Given the description of an element on the screen output the (x, y) to click on. 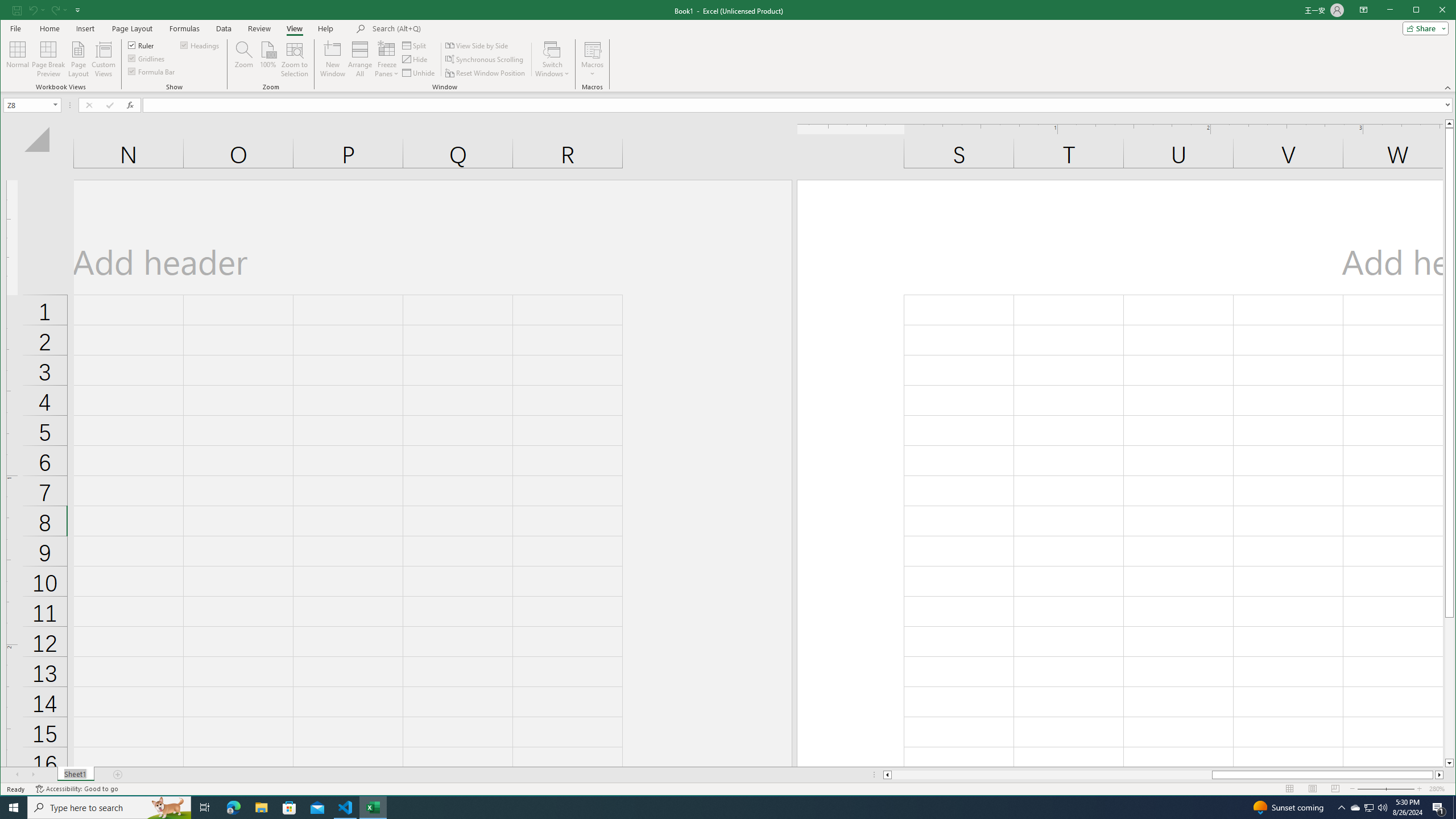
Microsoft Store (289, 807)
Switch Windows (552, 59)
Maximize (1432, 11)
Show desktop (1454, 807)
Microsoft Edge (233, 807)
Zoom... (243, 59)
Freeze Panes (387, 59)
